Given the description of an element on the screen output the (x, y) to click on. 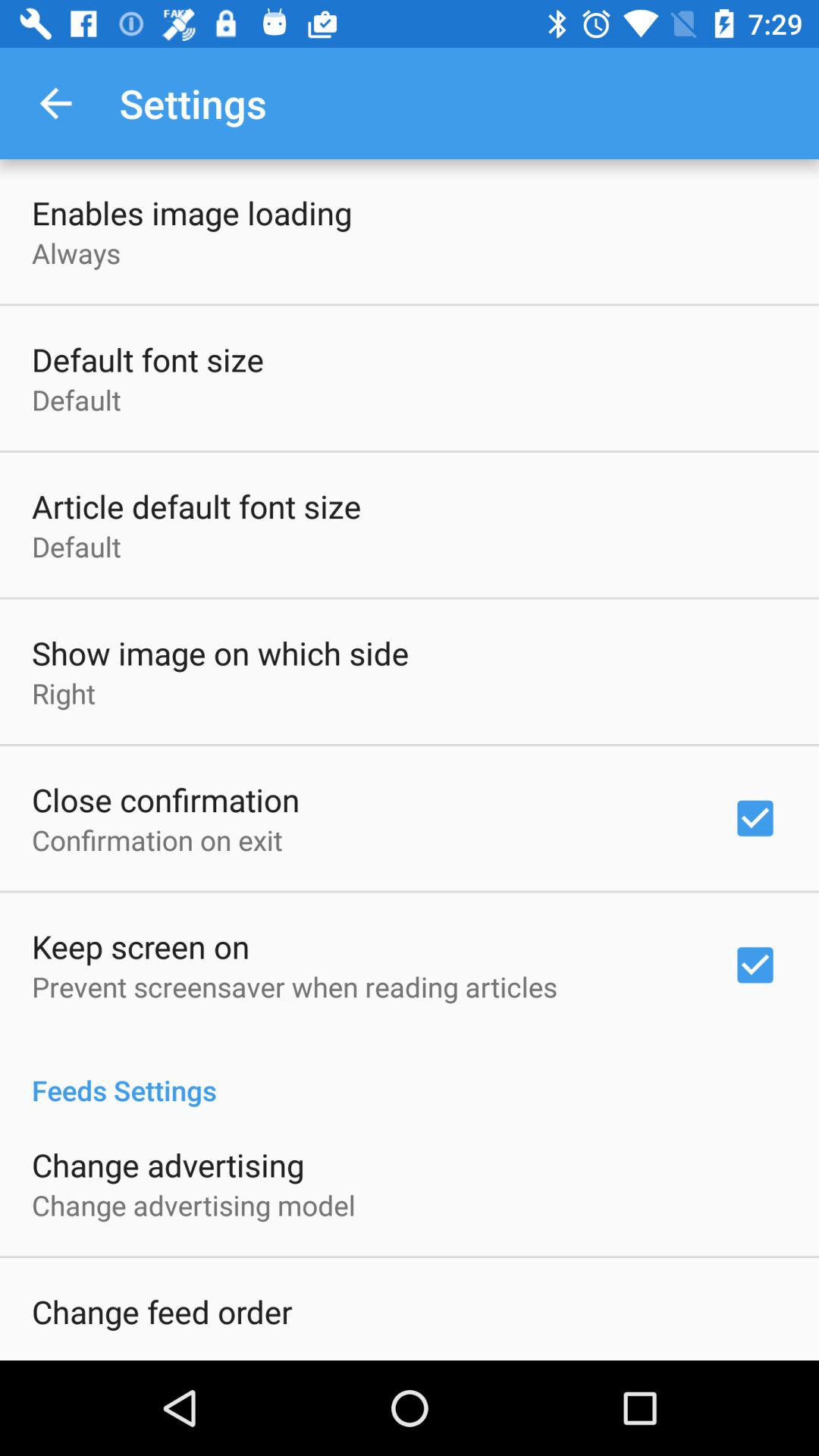
launch item above the prevent screensaver when item (140, 946)
